Given the description of an element on the screen output the (x, y) to click on. 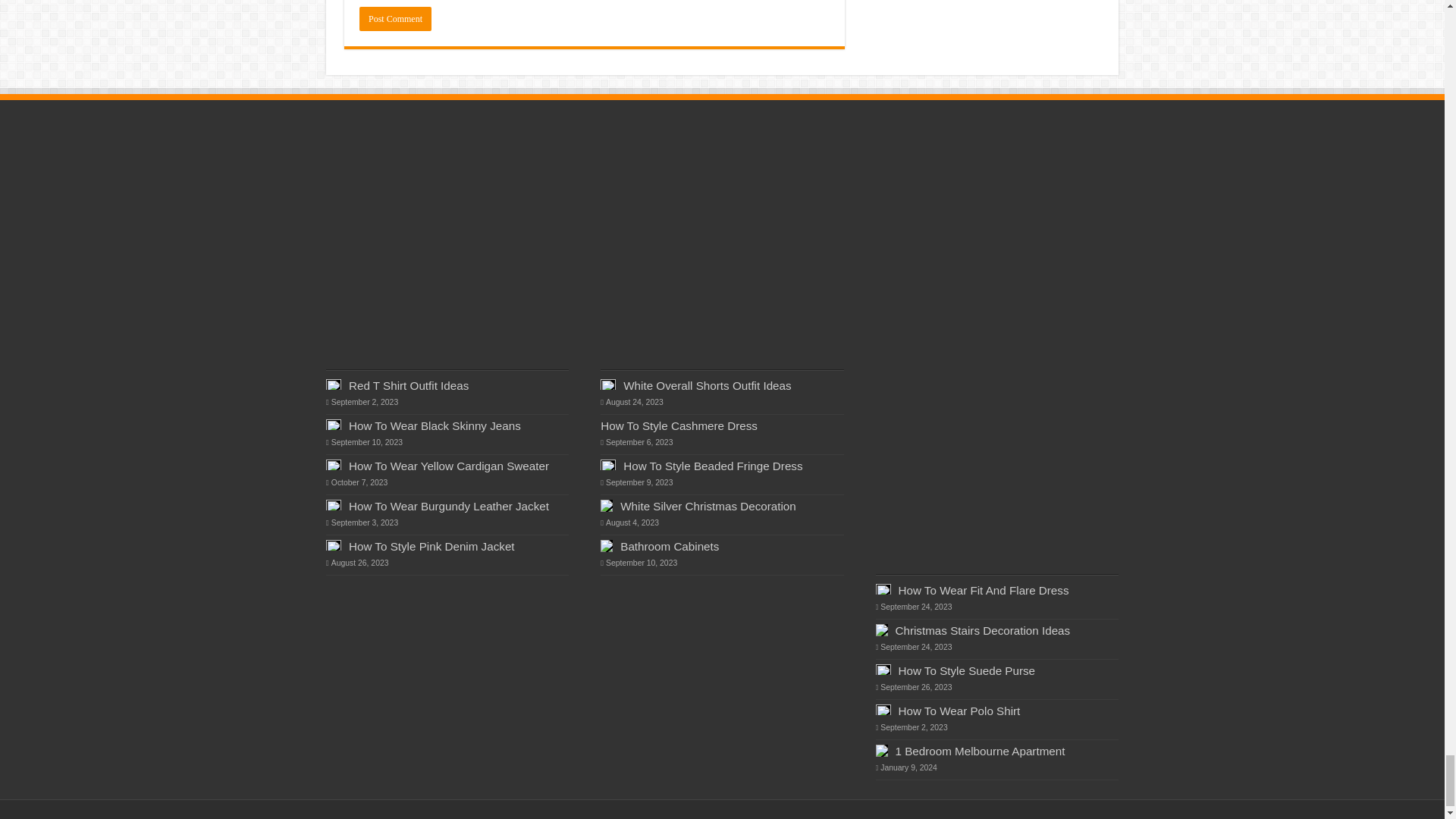
Red T Shirt Outfit Ideas (408, 385)
How To Wear Yellow Cardigan Sweater (448, 465)
How To Wear Burgundy Leather Jacket (448, 505)
Post Comment (394, 18)
Post Comment (394, 18)
How To Wear Black Skinny Jeans (435, 425)
